Given the description of an element on the screen output the (x, y) to click on. 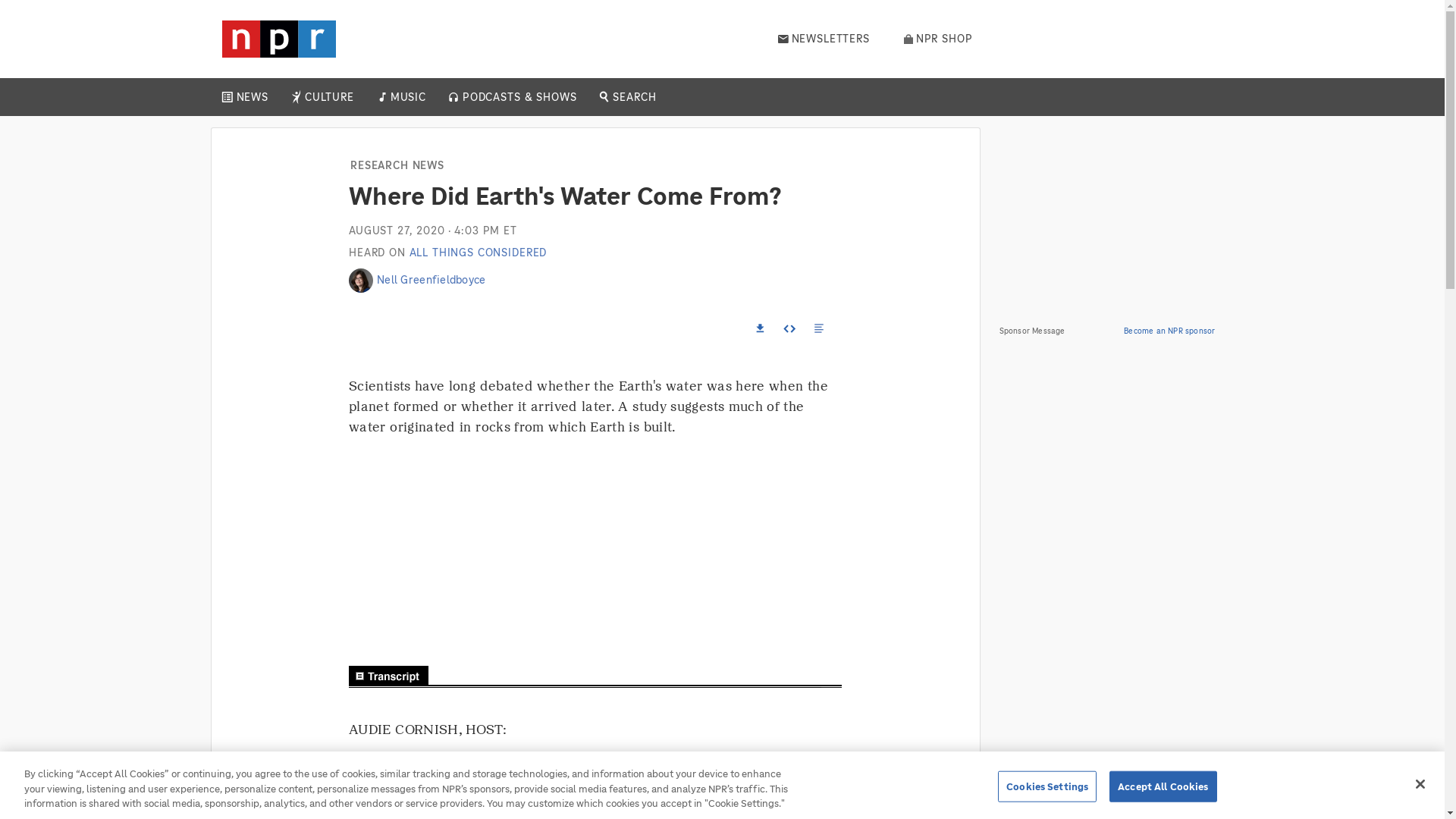
NPR SHOP (938, 38)
MUSIC (407, 96)
NEWSLETTERS (823, 38)
CULTURE (328, 96)
NEWS (251, 96)
